Given the description of an element on the screen output the (x, y) to click on. 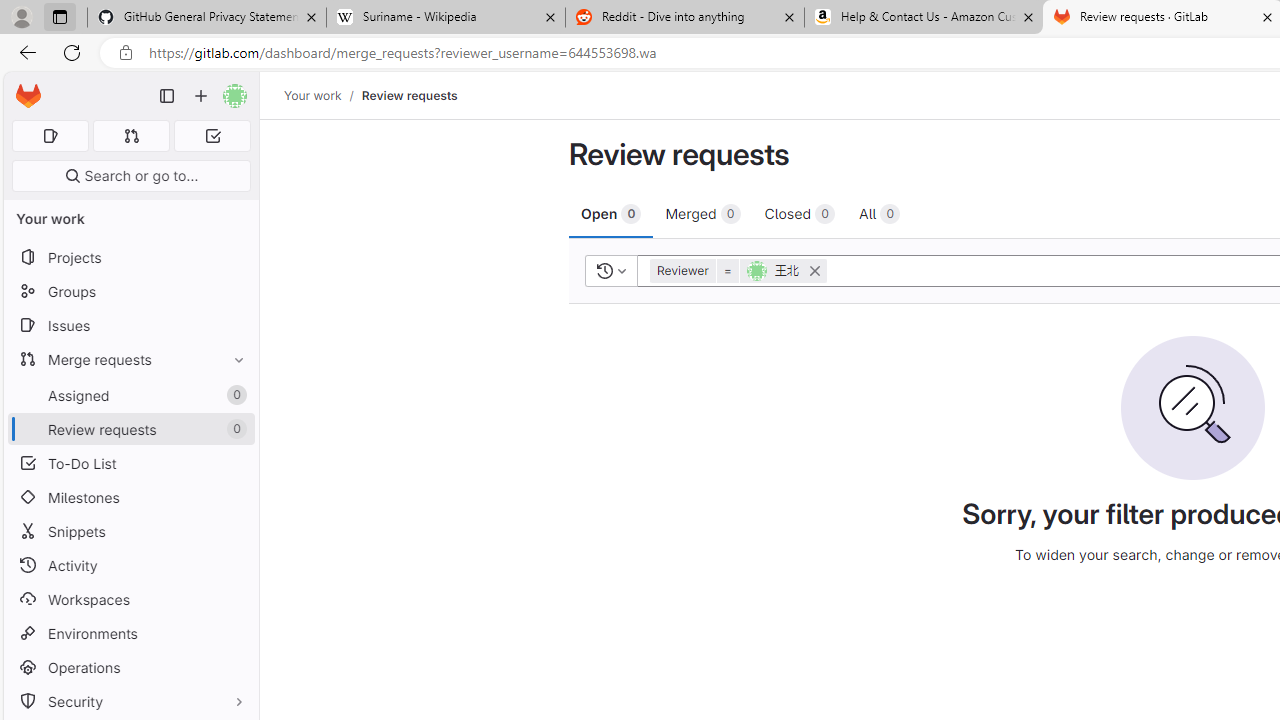
Review requests (409, 95)
